Given the description of an element on the screen output the (x, y) to click on. 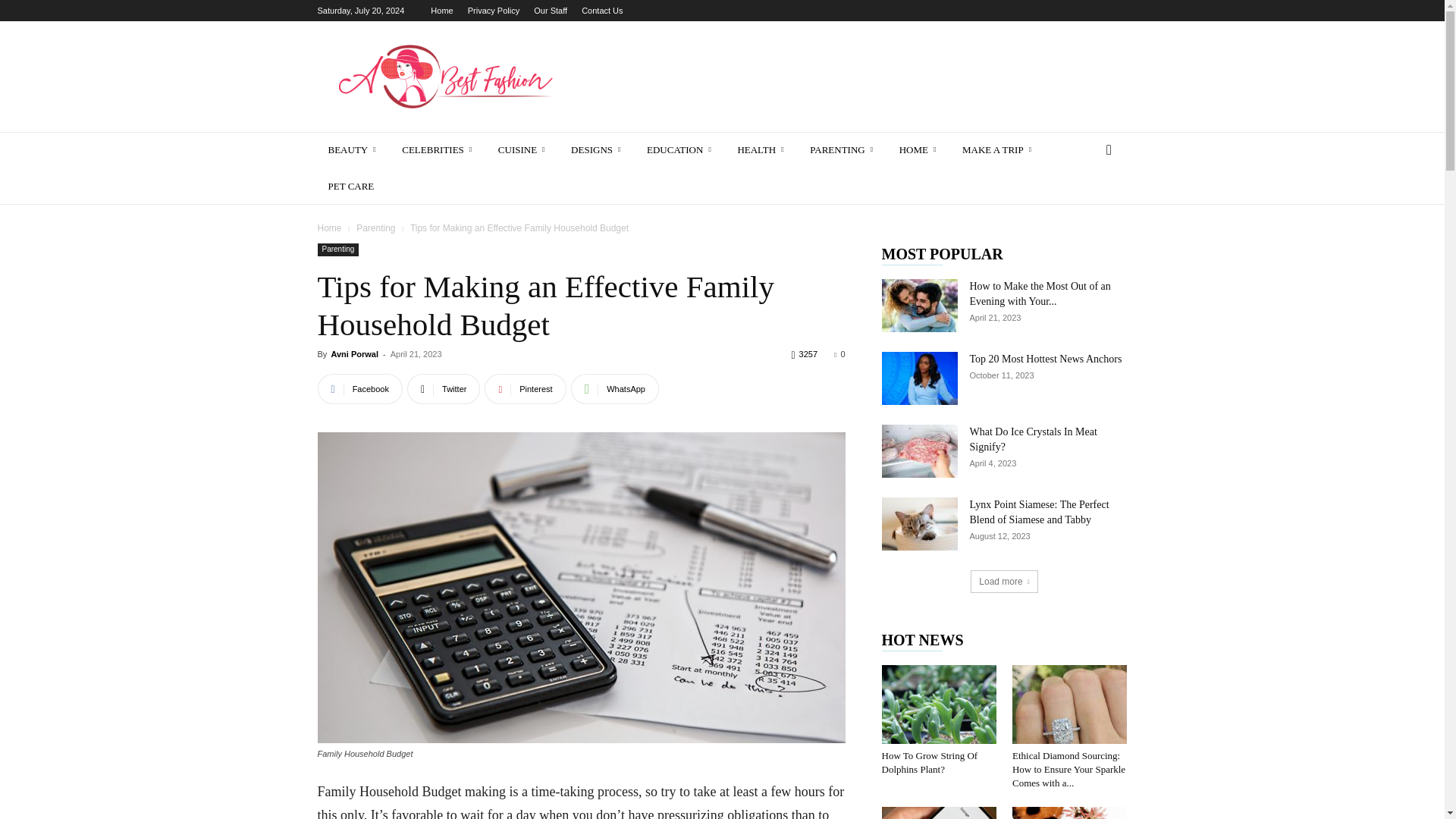
Twitter (443, 388)
Advertisement (850, 76)
Facebook (359, 388)
View all posts in Parenting (375, 227)
WhatsApp (614, 388)
Pinterest (525, 388)
